Given the description of an element on the screen output the (x, y) to click on. 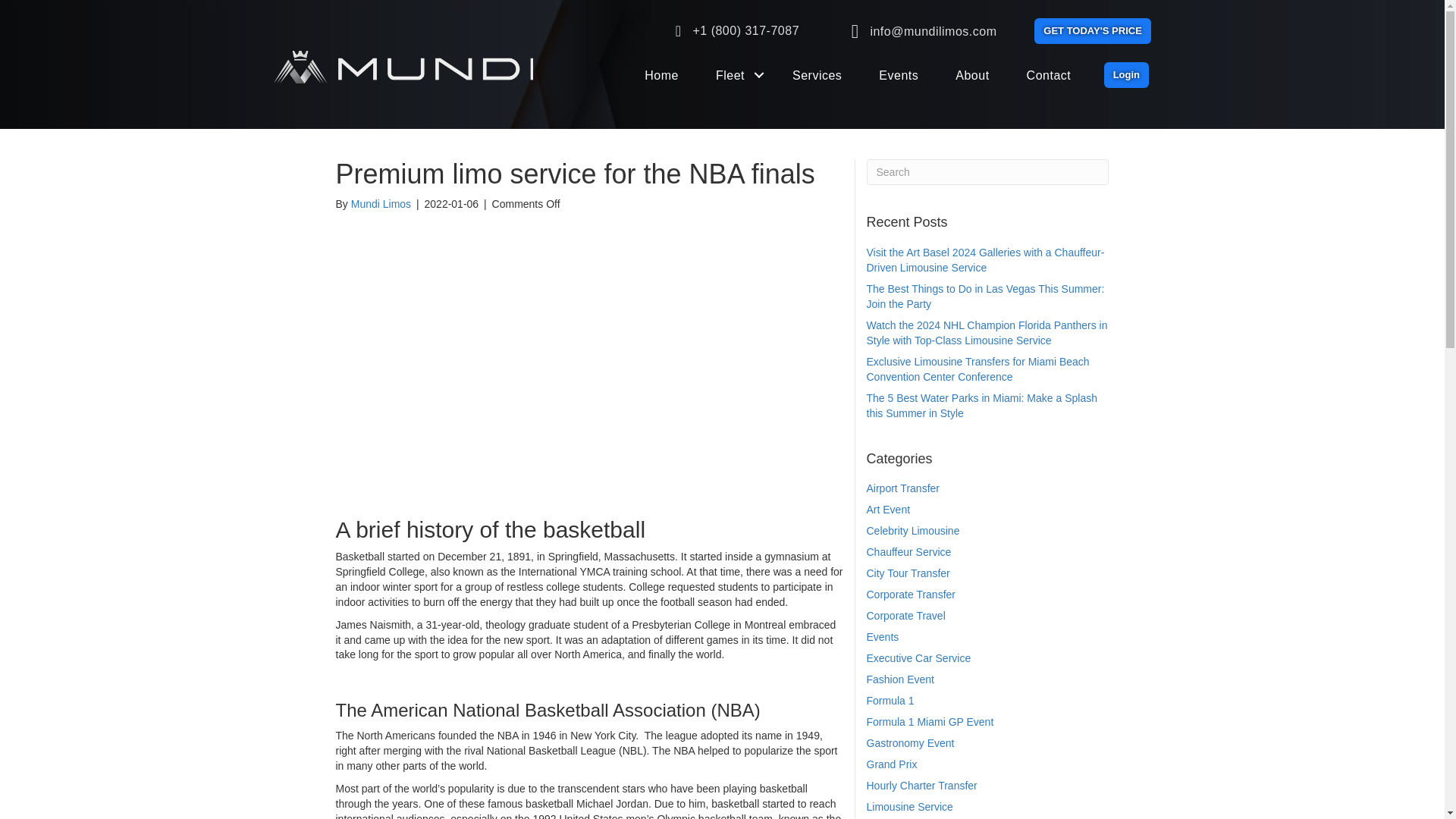
Home (661, 75)
Airport Transfer (902, 488)
City Tour Transfer (907, 573)
About Mundi Limos (972, 75)
Corporate Transfer (910, 594)
Art Event (888, 509)
Home Page Mundi Limos (661, 75)
Executive Car Service (918, 657)
Events Mundi Limos (898, 75)
Corporate Travel (905, 615)
Type and press Enter to search. (987, 171)
About (972, 75)
Login (1125, 74)
Mundi Limos (380, 203)
